Given the description of an element on the screen output the (x, y) to click on. 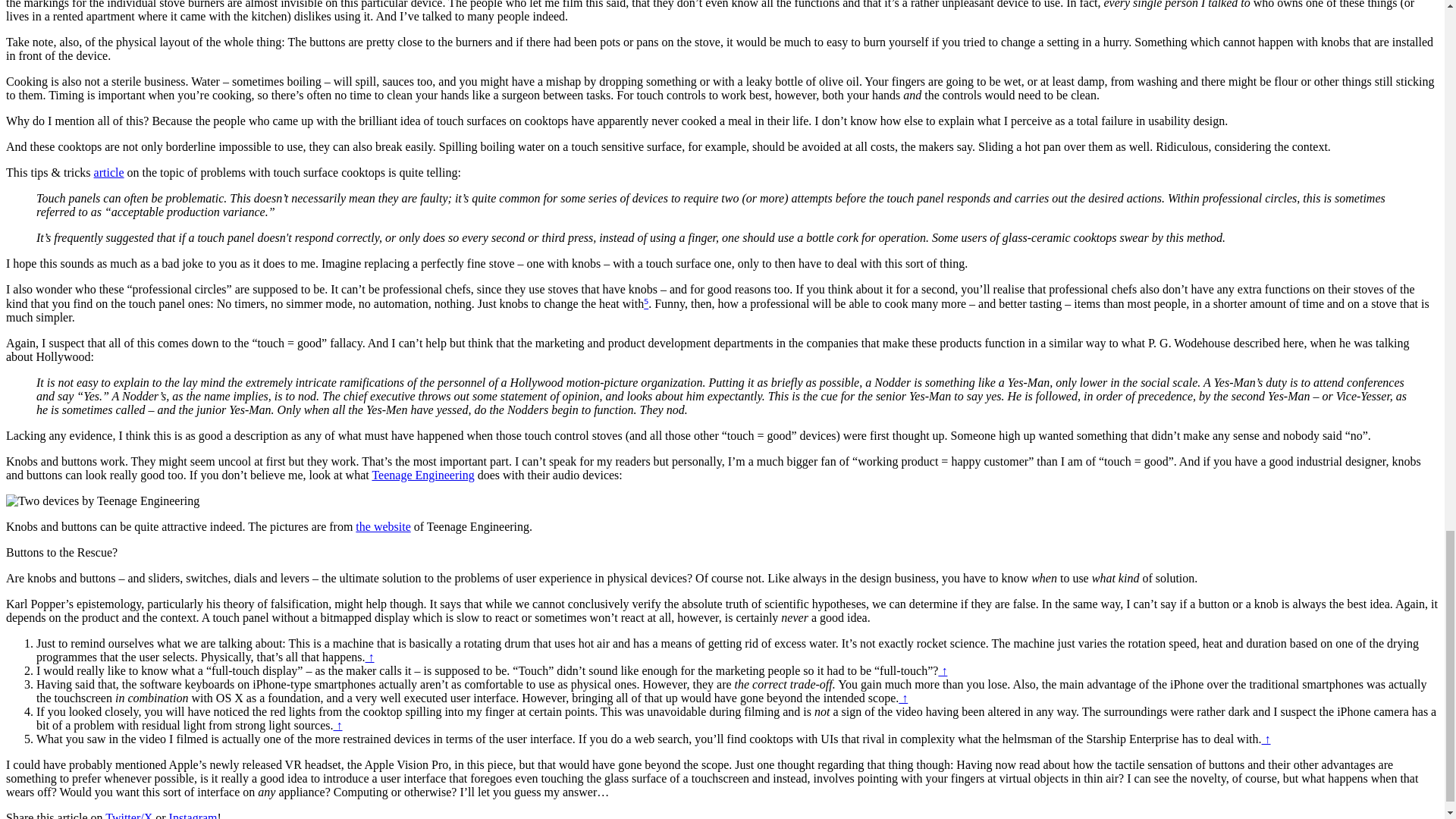
article (108, 172)
the website (382, 526)
Teenage Engineering (422, 474)
